Given the description of an element on the screen output the (x, y) to click on. 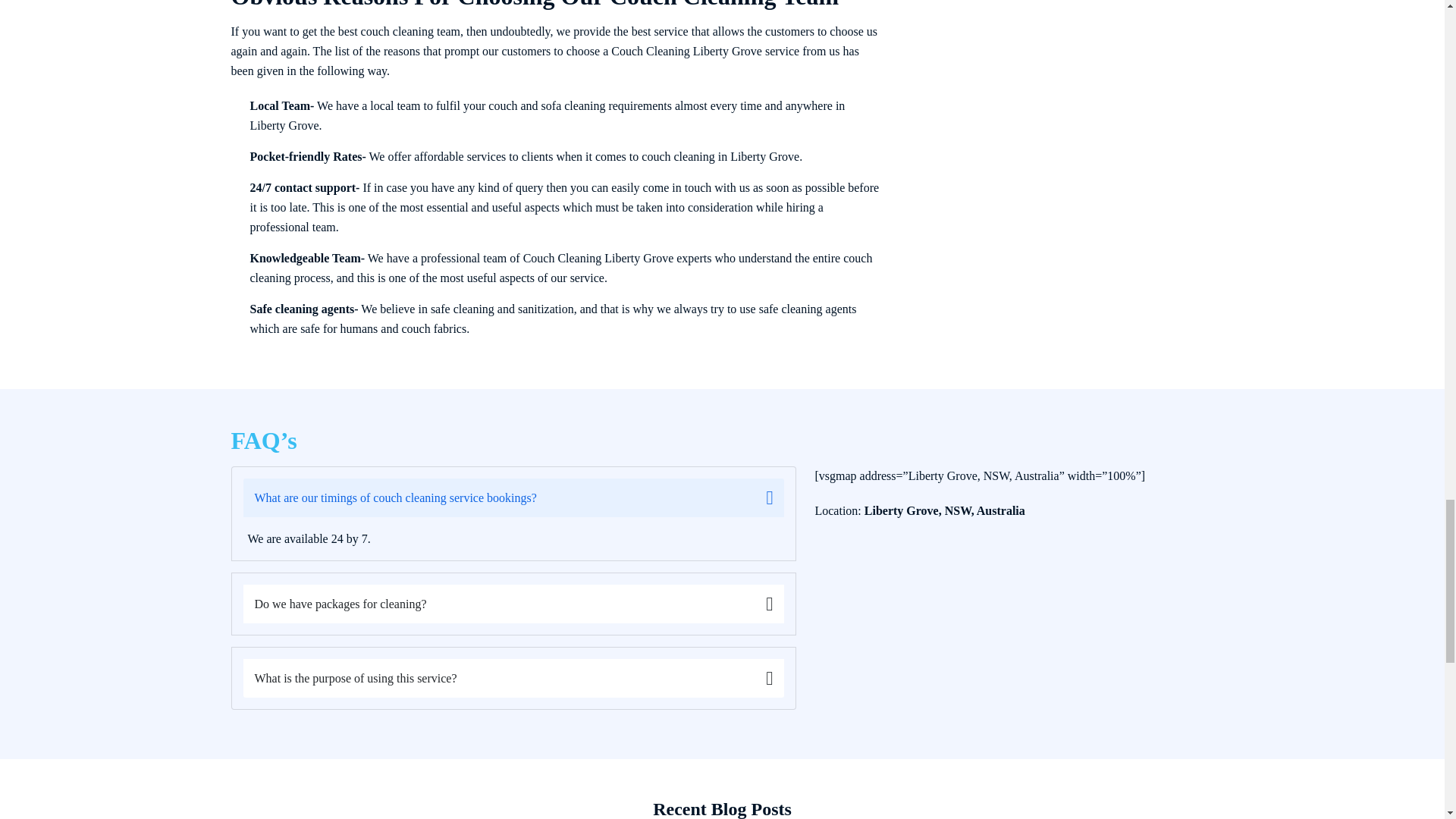
Do we have packages for cleaning? (513, 603)
What are our timings of couch cleaning service bookings? (513, 497)
What is the purpose of using this service? (513, 678)
